Given the description of an element on the screen output the (x, y) to click on. 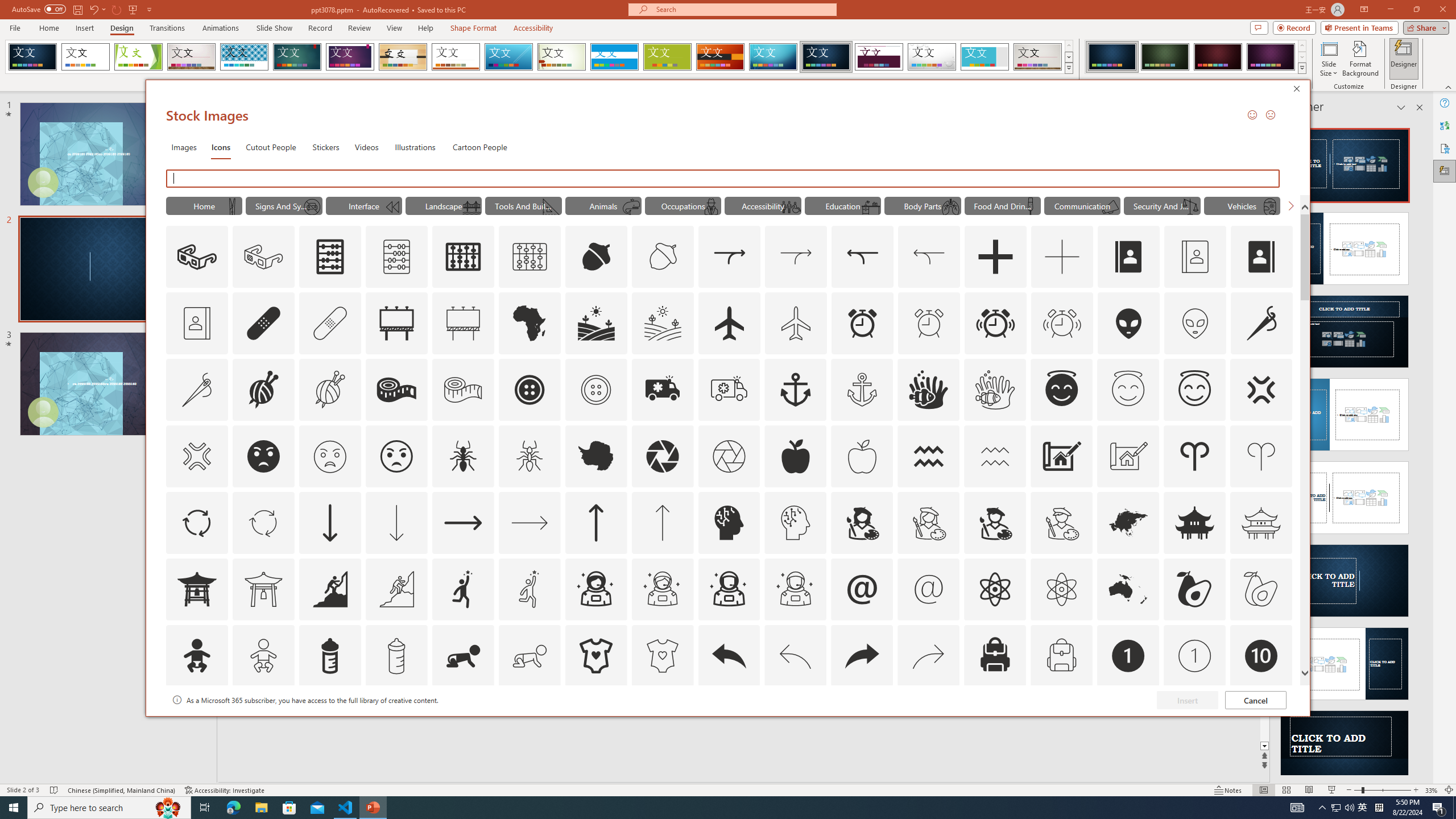
AutomationID: Icons_Aries_M (1260, 455)
AutomationID: Icons_UniversalAccess_M (790, 206)
"Signs And Symbols" Icons. (283, 205)
AutomationID: Icons_ArrowUp_M (662, 522)
AutomationID: Icons_Abacus_M (397, 256)
AutomationID: Icons_AlterationsTailoring (1261, 323)
Images (183, 146)
AutomationID: Icons_AsianTemple_M (1260, 522)
AutomationID: Icons_AddressBook_RTL (1261, 256)
